Given the description of an element on the screen output the (x, y) to click on. 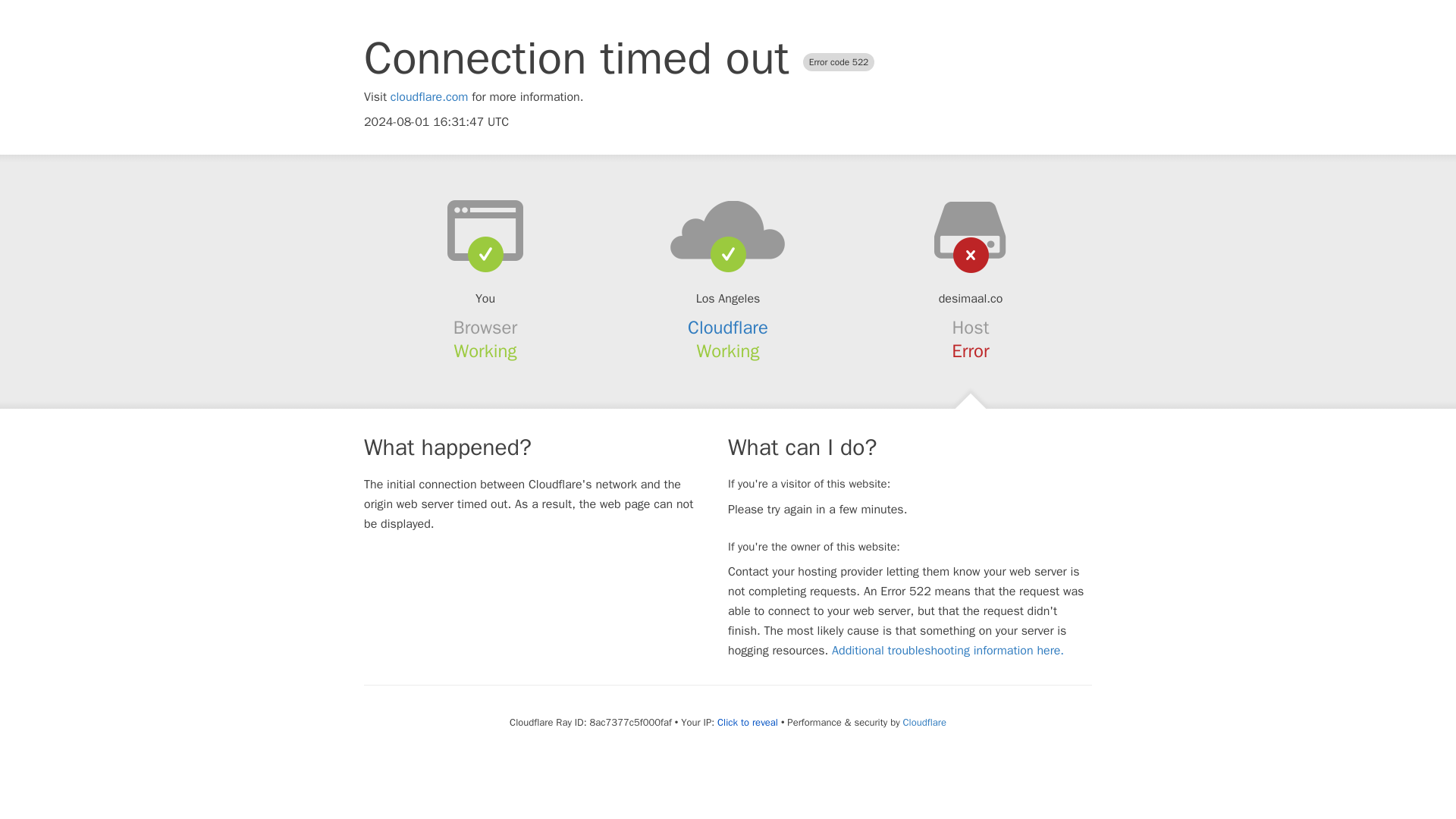
Click to reveal (747, 722)
Additional troubleshooting information here. (947, 650)
Cloudflare (924, 721)
cloudflare.com (429, 96)
Cloudflare (727, 327)
